Given the description of an element on the screen output the (x, y) to click on. 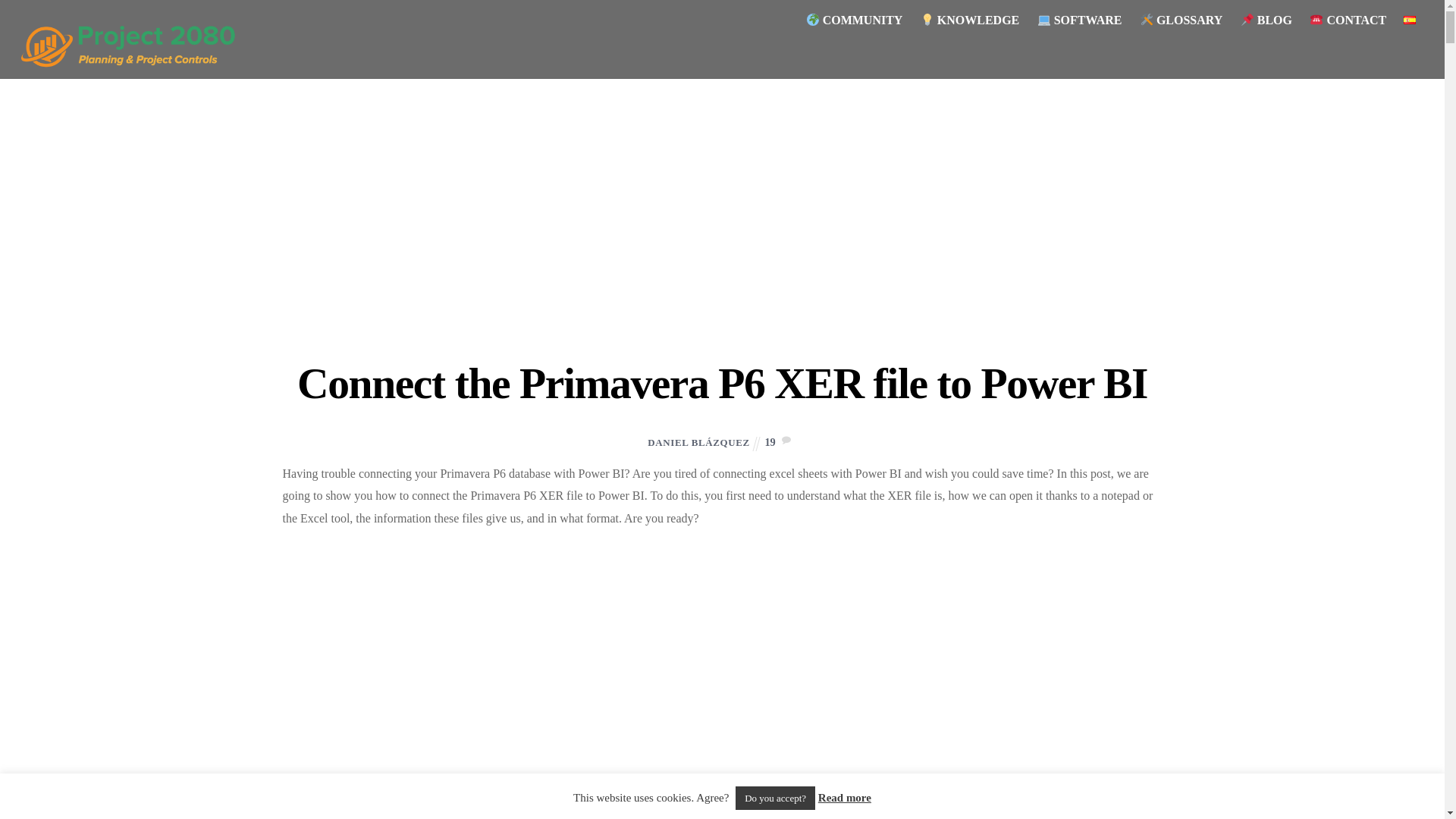
KNOWLEDGE (969, 19)
Project 2080 (134, 65)
GLOSSARY (1181, 19)
SOFTWARE (1079, 19)
SUBSCRIBE TO OUR YOUTUBE CHANNEL (721, 810)
BLOG (1266, 19)
Connect the Primavera P6 XER file to Power BI (722, 383)
COMMUNITY (853, 19)
CONTACT (1348, 19)
Project 2080 (134, 41)
